Given the description of an element on the screen output the (x, y) to click on. 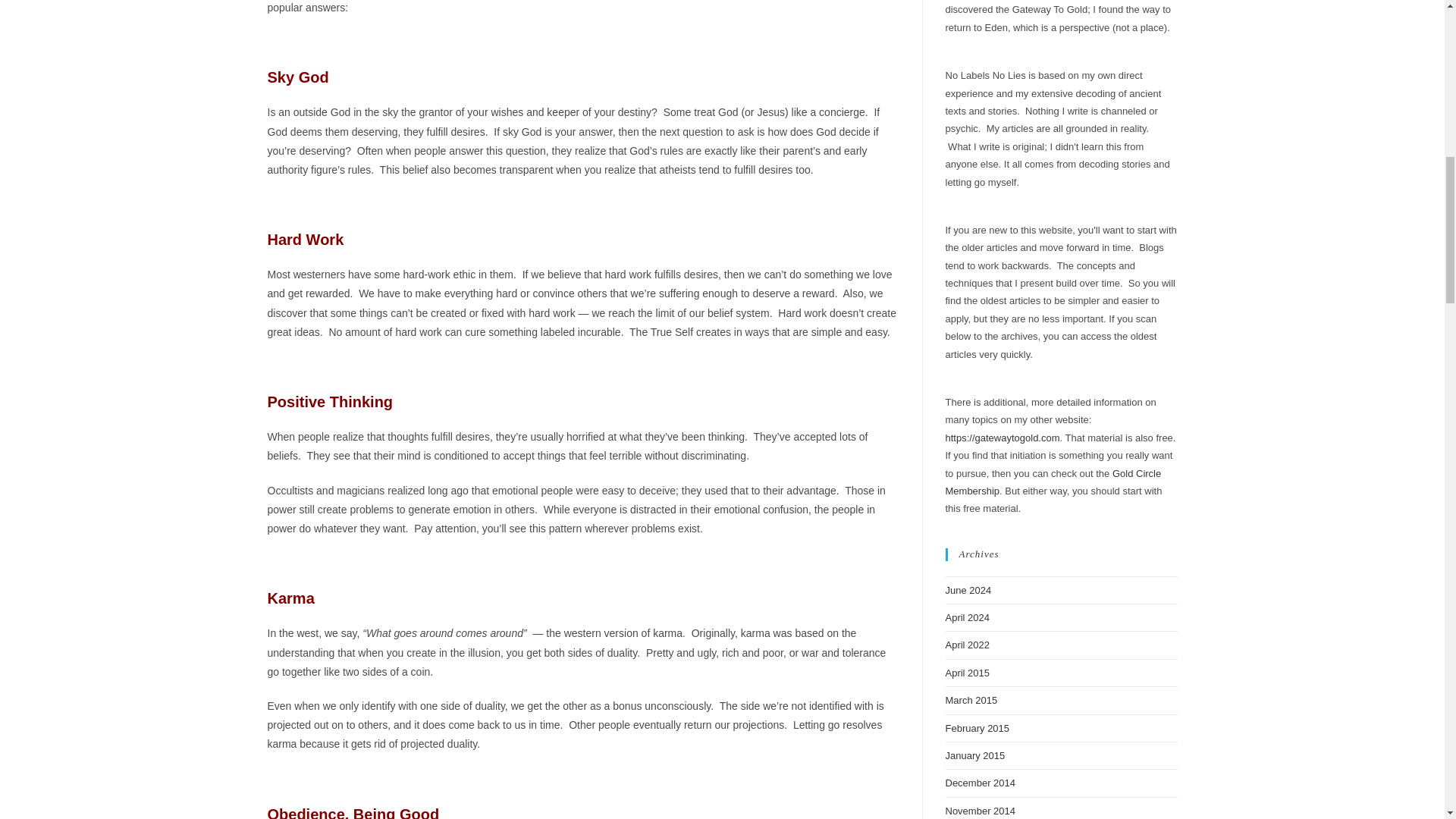
January 2015 (974, 755)
April 2024 (967, 617)
June 2024 (967, 590)
Gold Circle Membership (1052, 481)
April 2022 (967, 644)
December 2014 (979, 782)
April 2015 (967, 672)
February 2015 (976, 727)
March 2015 (970, 699)
